Given the description of an element on the screen output the (x, y) to click on. 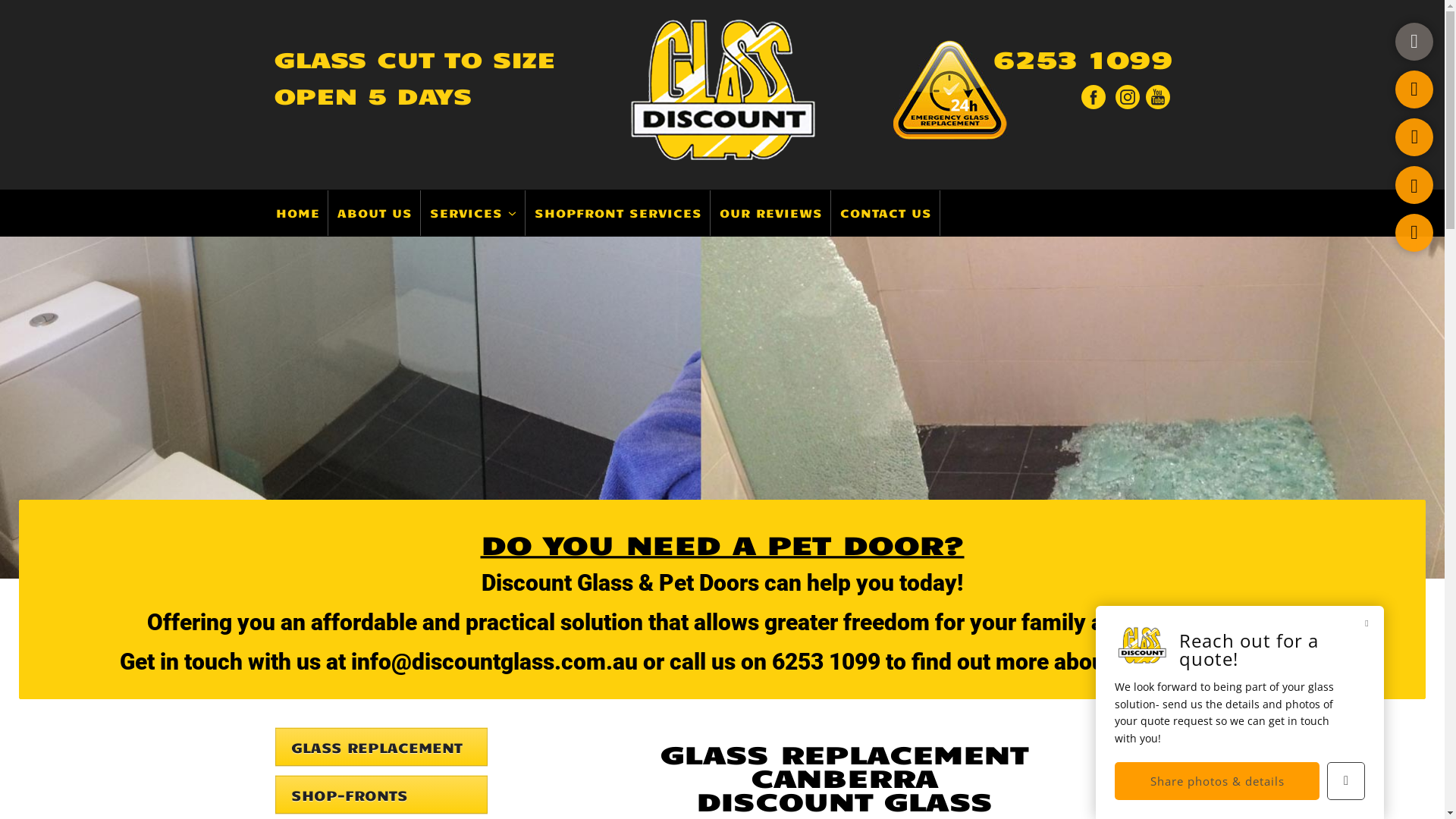
OUR REVIEWS Element type: text (770, 212)
SHOP-FRONTS Element type: text (380, 796)
SERVICES Element type: text (472, 212)
6253 1099 Element type: text (1072, 62)
GLASS REPLACEMENT Element type: text (380, 749)
HOME Element type: text (298, 212)
ABOUT US Element type: text (374, 212)
Share photos & details Element type: text (1216, 781)
SHOPFRONT SERVICES Element type: text (617, 212)
CONTACT US Element type: text (886, 212)
